Given the description of an element on the screen output the (x, y) to click on. 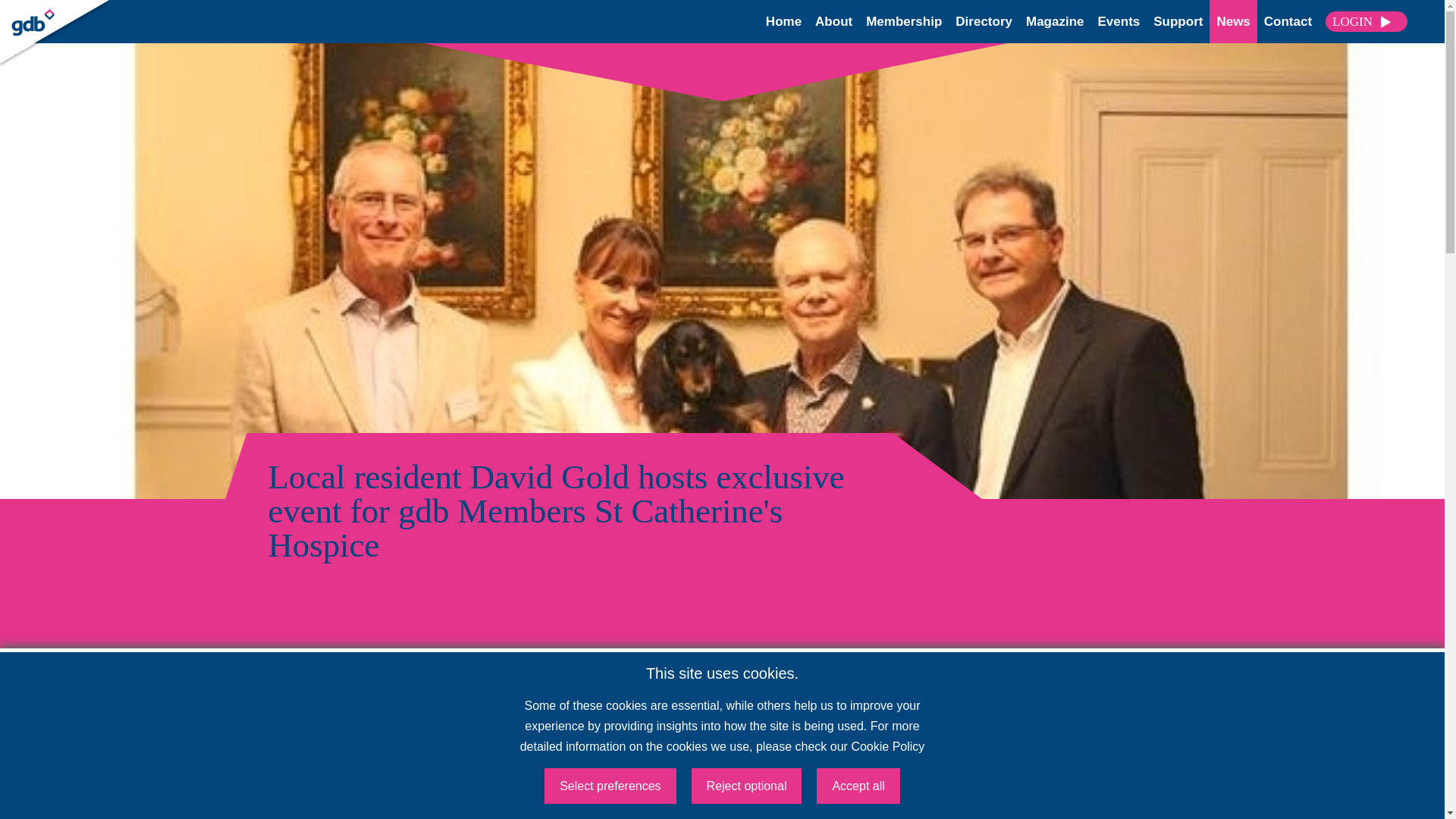
LOGIN (1365, 21)
Support (1177, 21)
Events (1118, 21)
Directory (983, 21)
Contact (1287, 21)
Membership (904, 21)
Magazine (1055, 21)
LOGIN (52, 13)
